Given the description of an element on the screen output the (x, y) to click on. 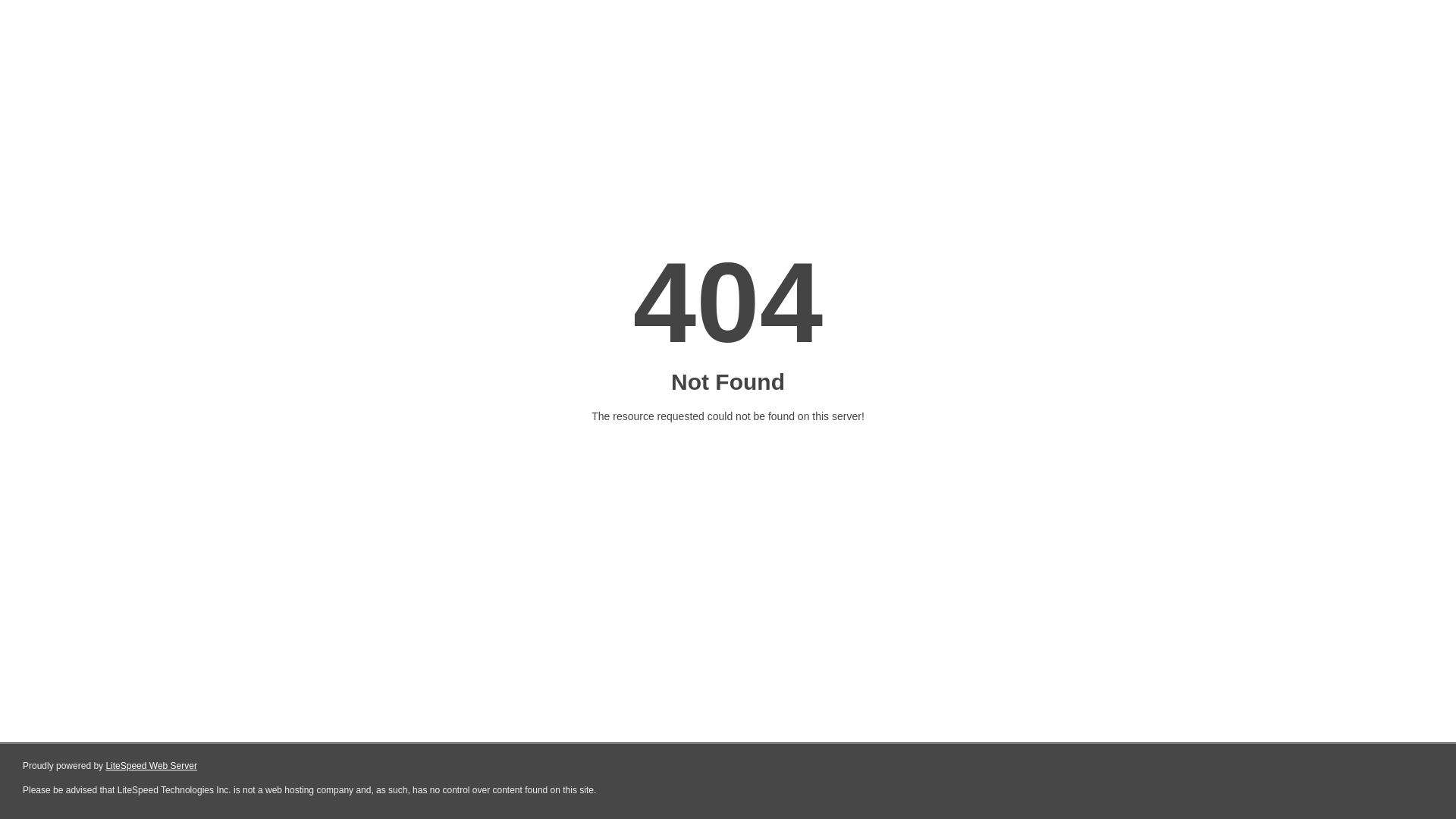
LiteSpeed Web Server Element type: text (151, 765)
